Given the description of an element on the screen output the (x, y) to click on. 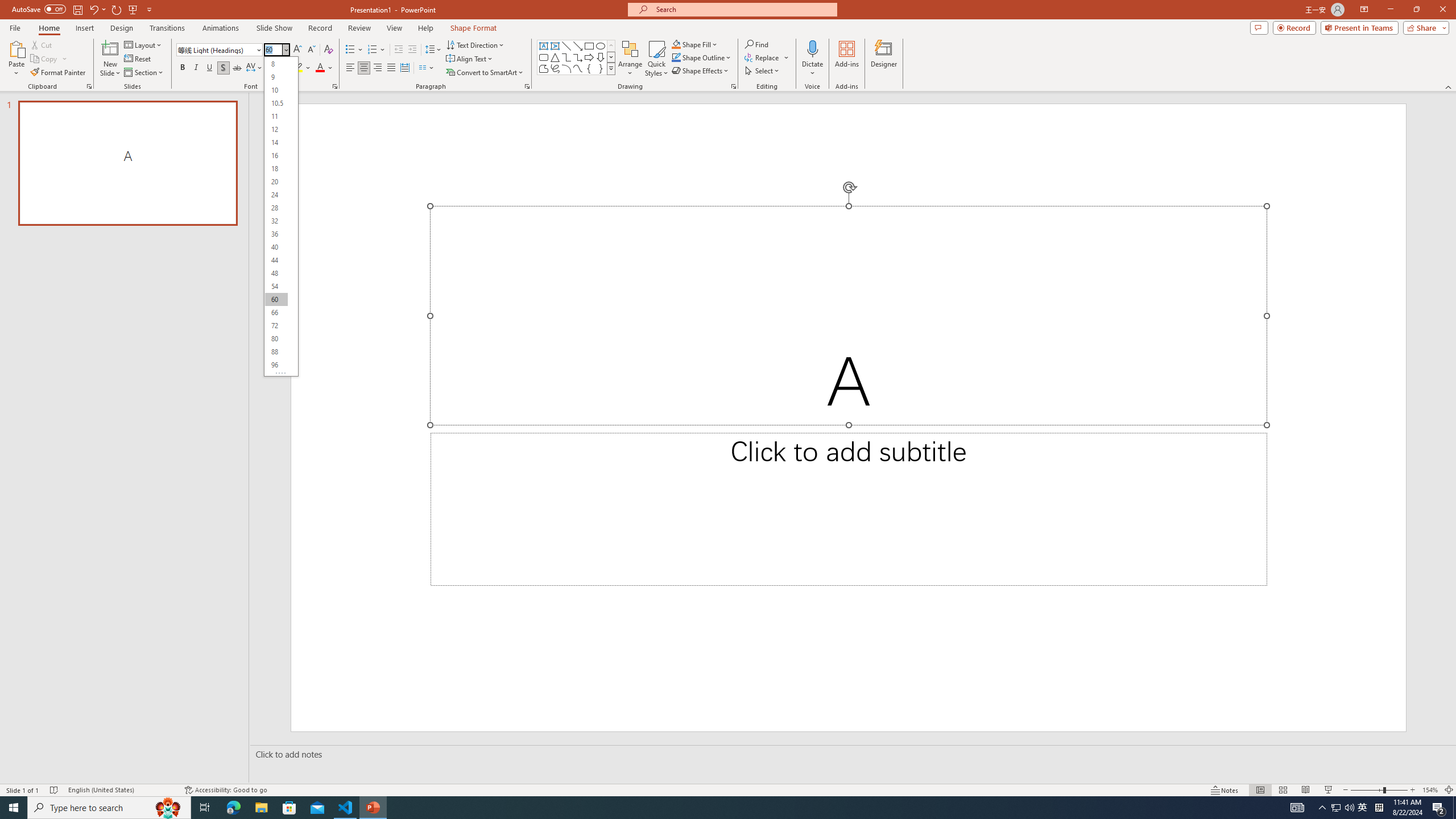
11 (276, 115)
40 (276, 246)
24 (276, 194)
